Given the description of an element on the screen output the (x, y) to click on. 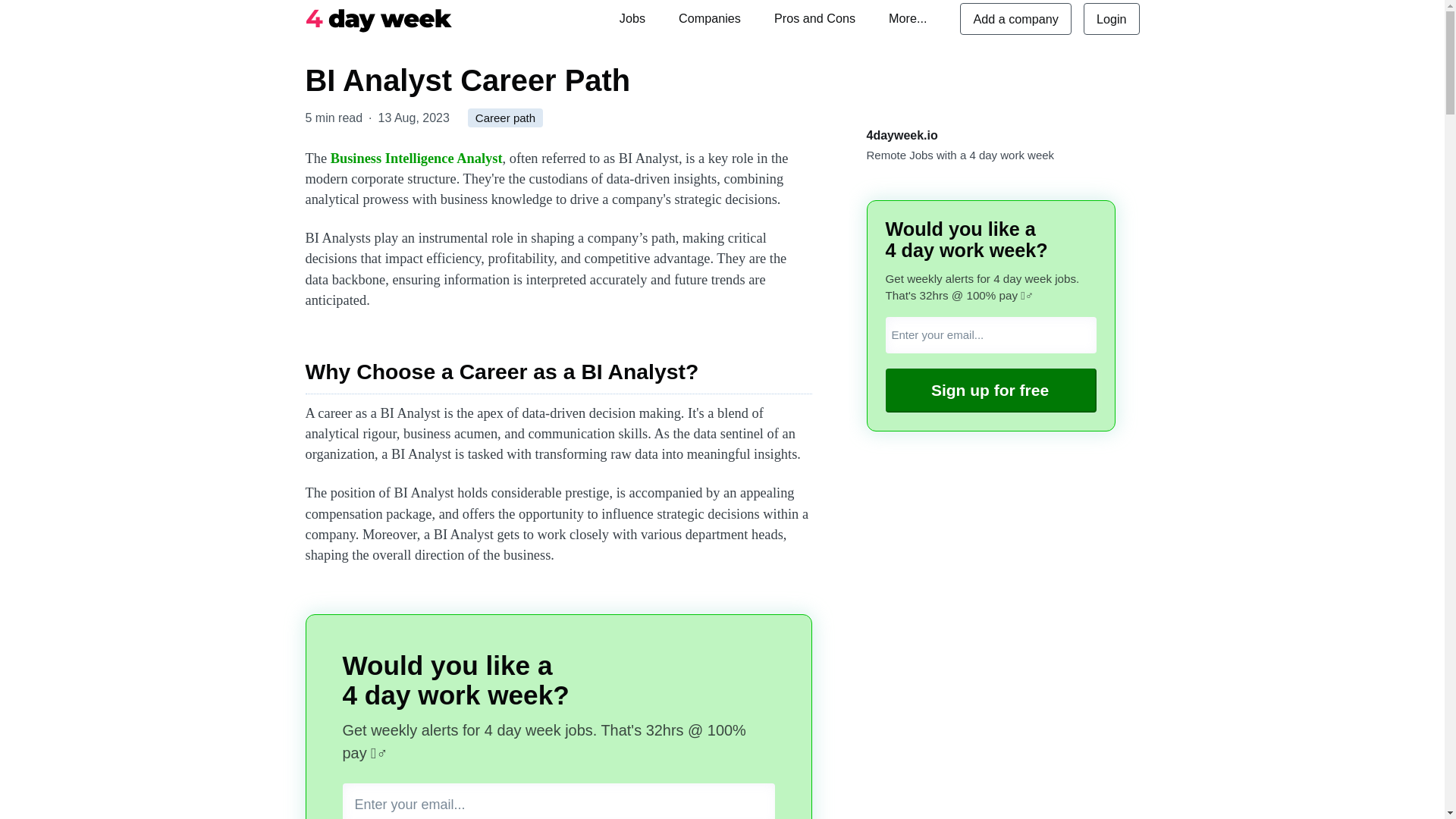
Pros and Cons (814, 18)
Companies (709, 18)
More... (907, 18)
Jobs (632, 18)
